Given the description of an element on the screen output the (x, y) to click on. 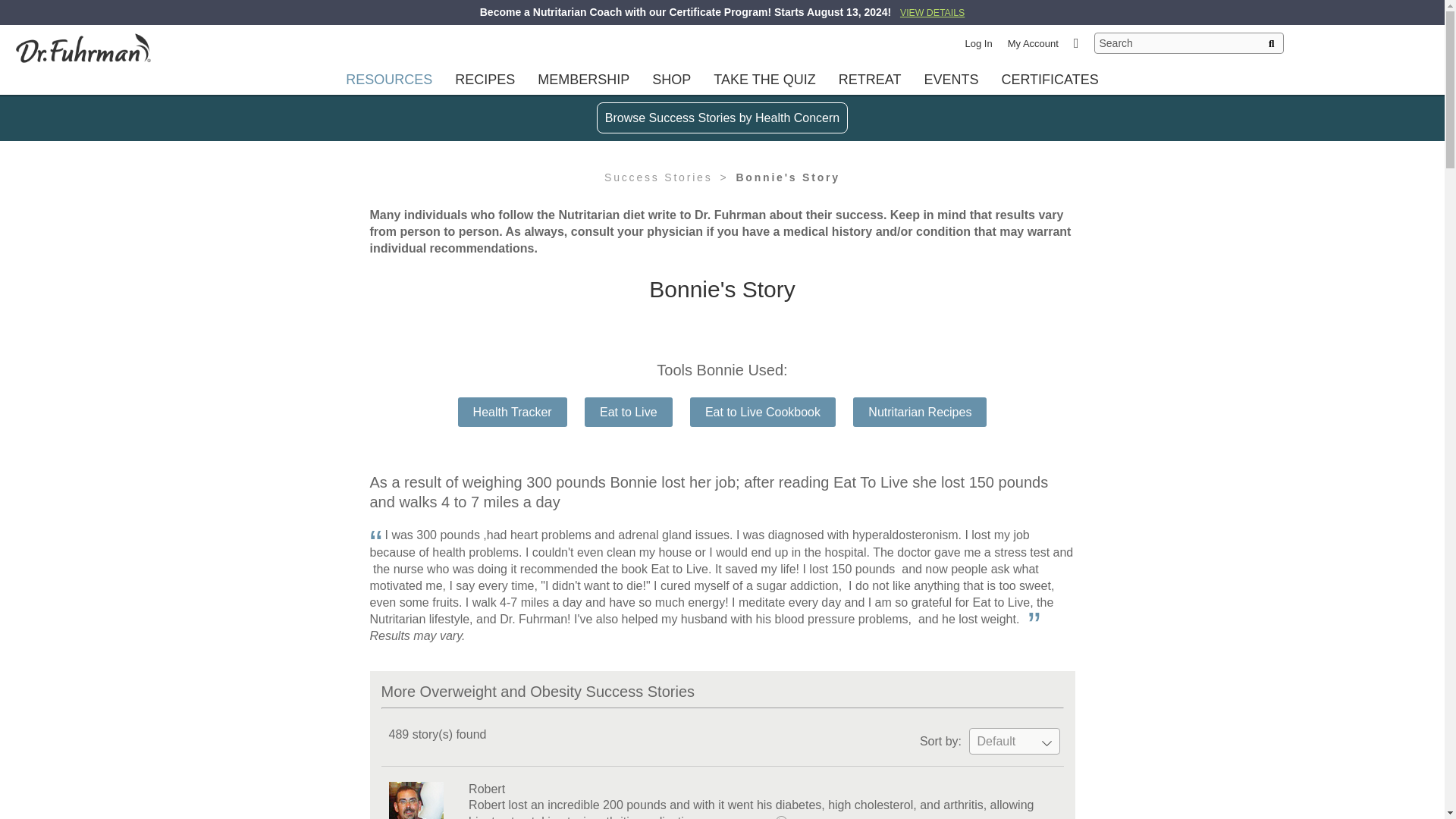
MEMBERSHIP (583, 79)
My Account (1032, 43)
SHOP (670, 79)
Log In (978, 43)
RETREAT (869, 79)
EVENTS (950, 79)
VIEW DETAILS (931, 11)
TAKE THE QUIZ (764, 79)
